Given the description of an element on the screen output the (x, y) to click on. 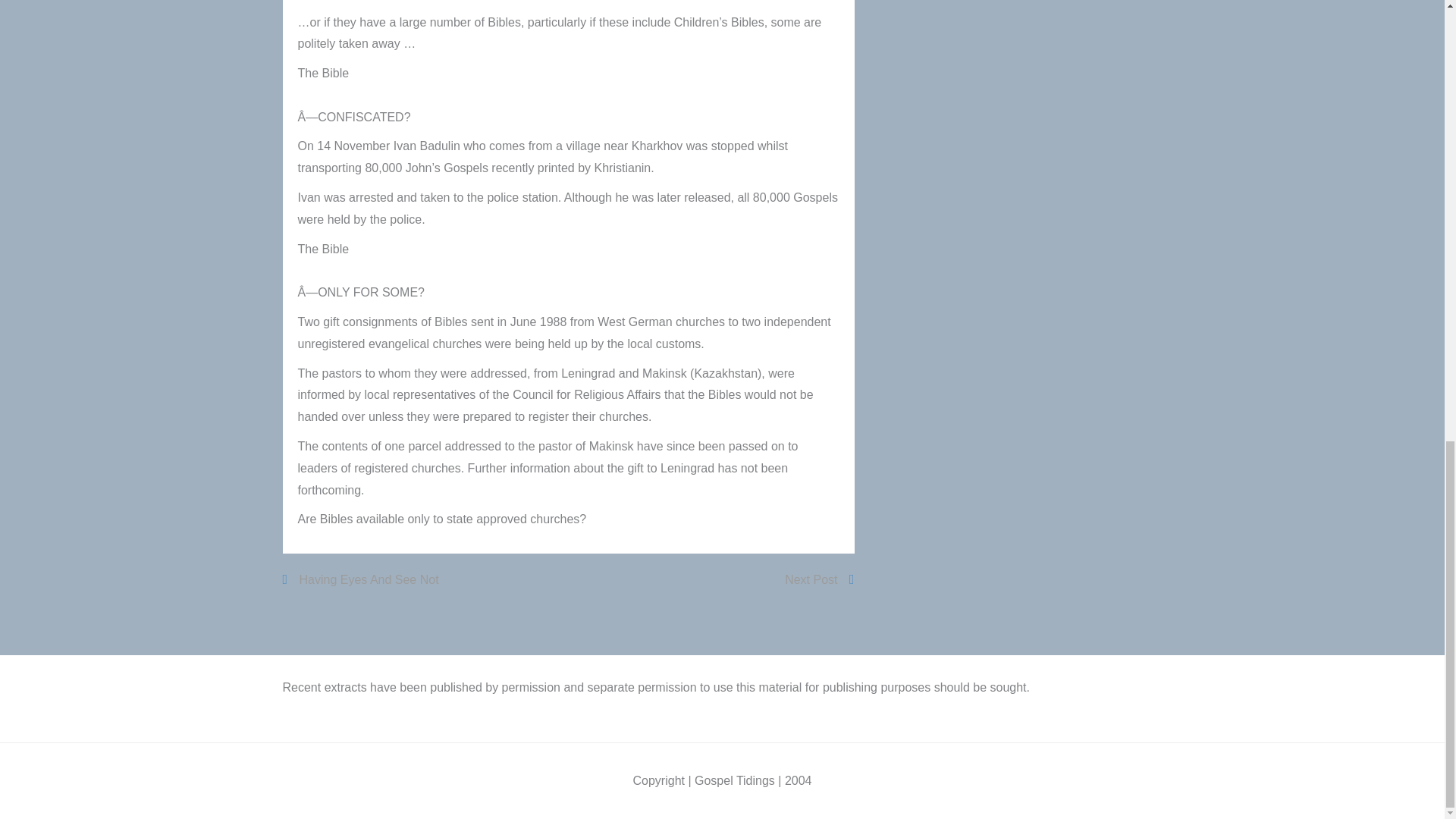
Next Post (817, 579)
Having Eyes And See Not (360, 579)
